Given the description of an element on the screen output the (x, y) to click on. 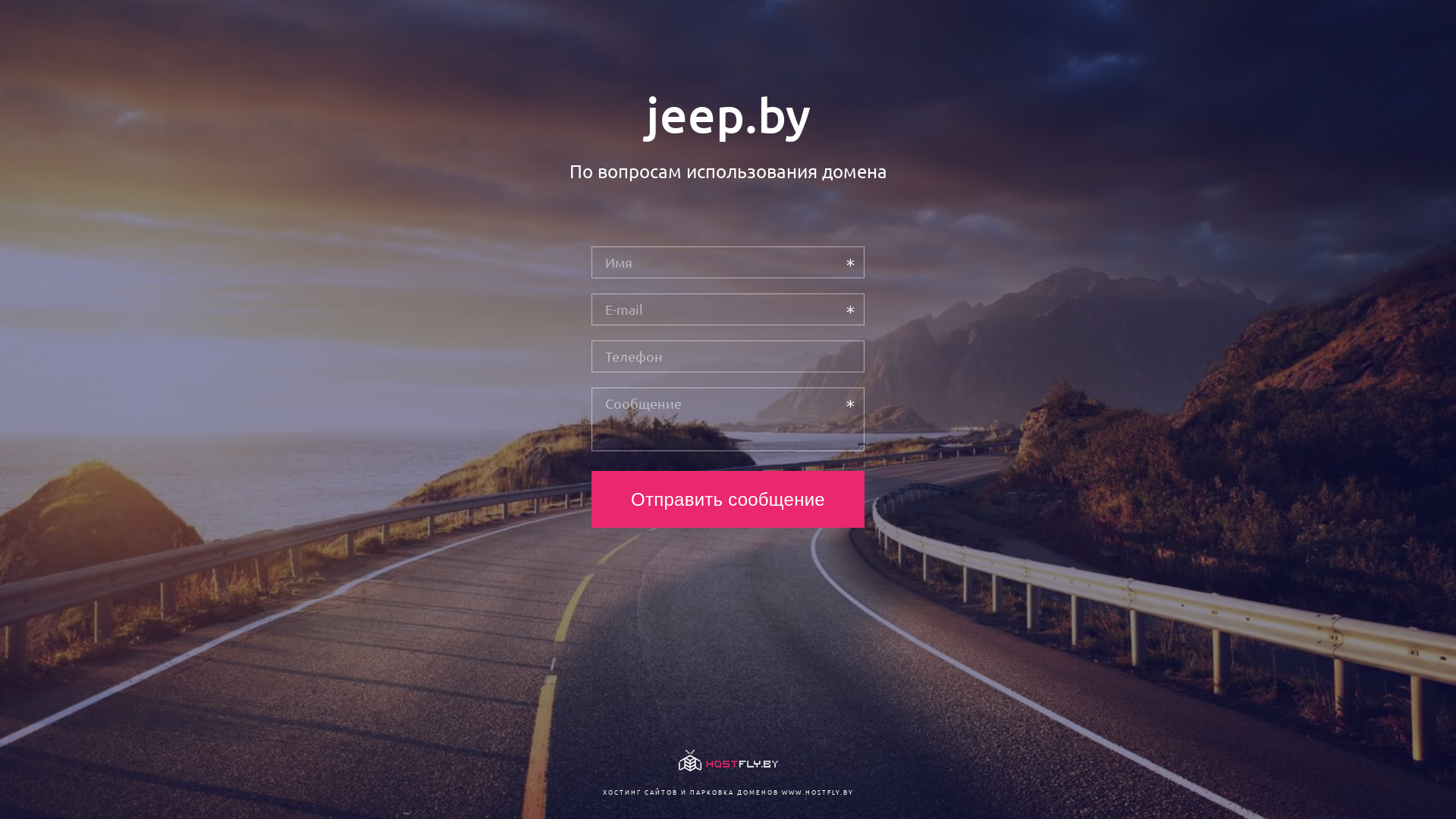
WWW.HOSTFLY.BY Element type: text (817, 791)
